Given the description of an element on the screen output the (x, y) to click on. 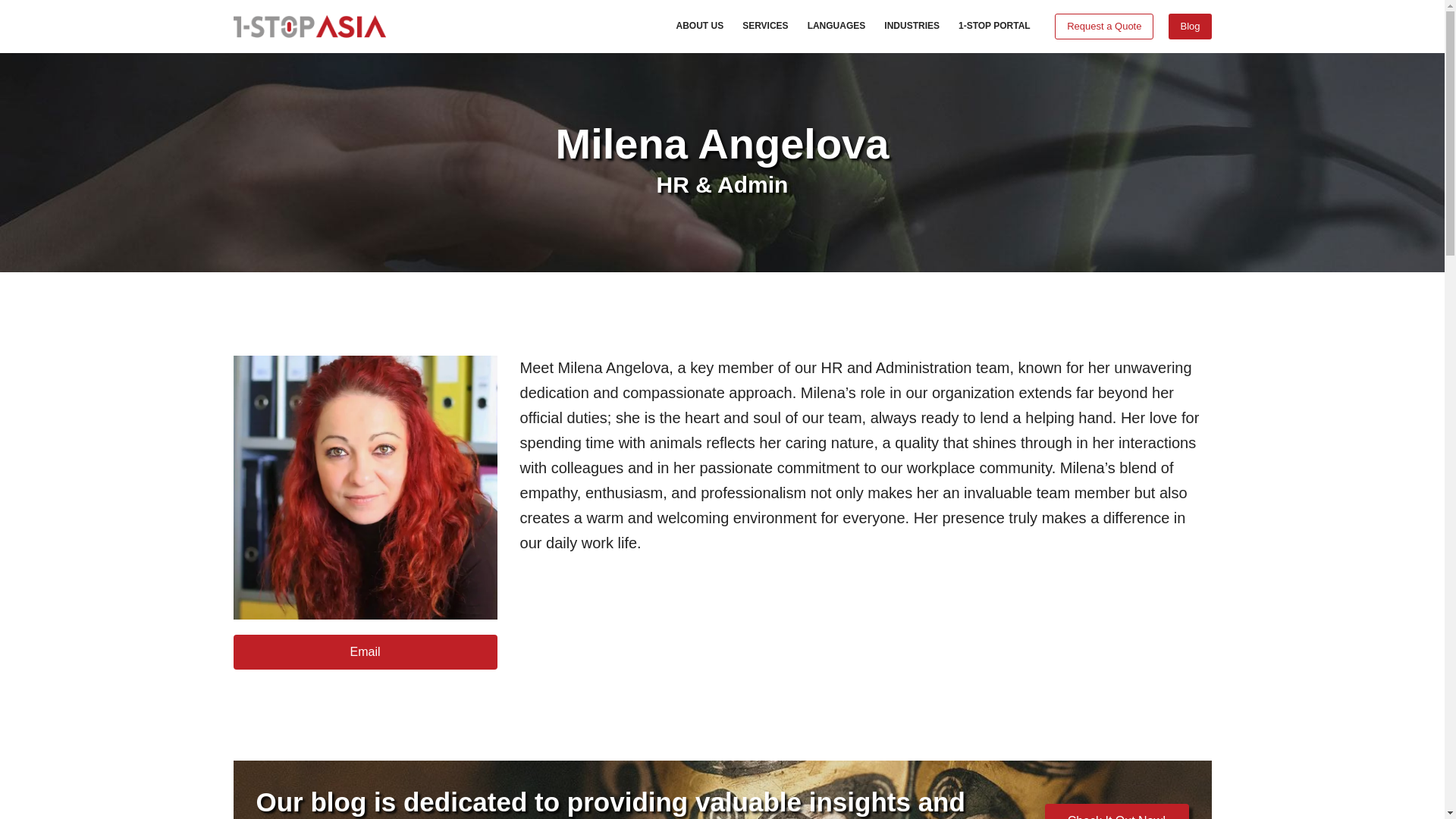
SERVICES (765, 26)
Milena Angelova (364, 487)
ABOUT US (699, 26)
LANGUAGES (836, 26)
Skip to content (15, 7)
1-STOP PORTAL (994, 26)
INDUSTRIES (912, 26)
Check It Out Now! (1117, 811)
Request a Quote (1103, 26)
Email (364, 651)
